Given the description of an element on the screen output the (x, y) to click on. 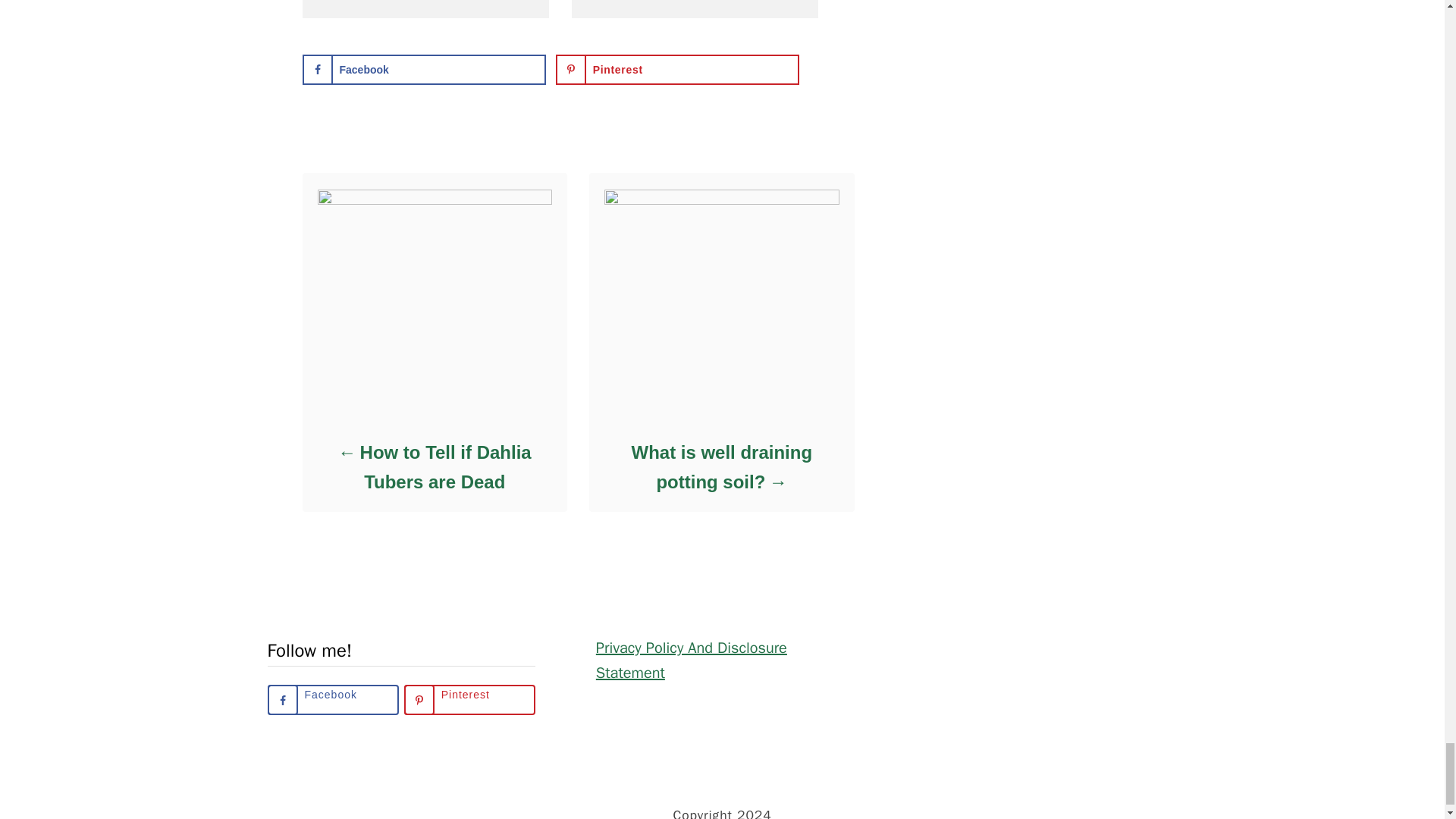
Save to Pinterest (677, 69)
Follow on Pinterest (469, 699)
Follow on Facebook (331, 699)
Share on Facebook (422, 69)
How to Grow Onions from Seed (424, 1)
